Given the description of an element on the screen output the (x, y) to click on. 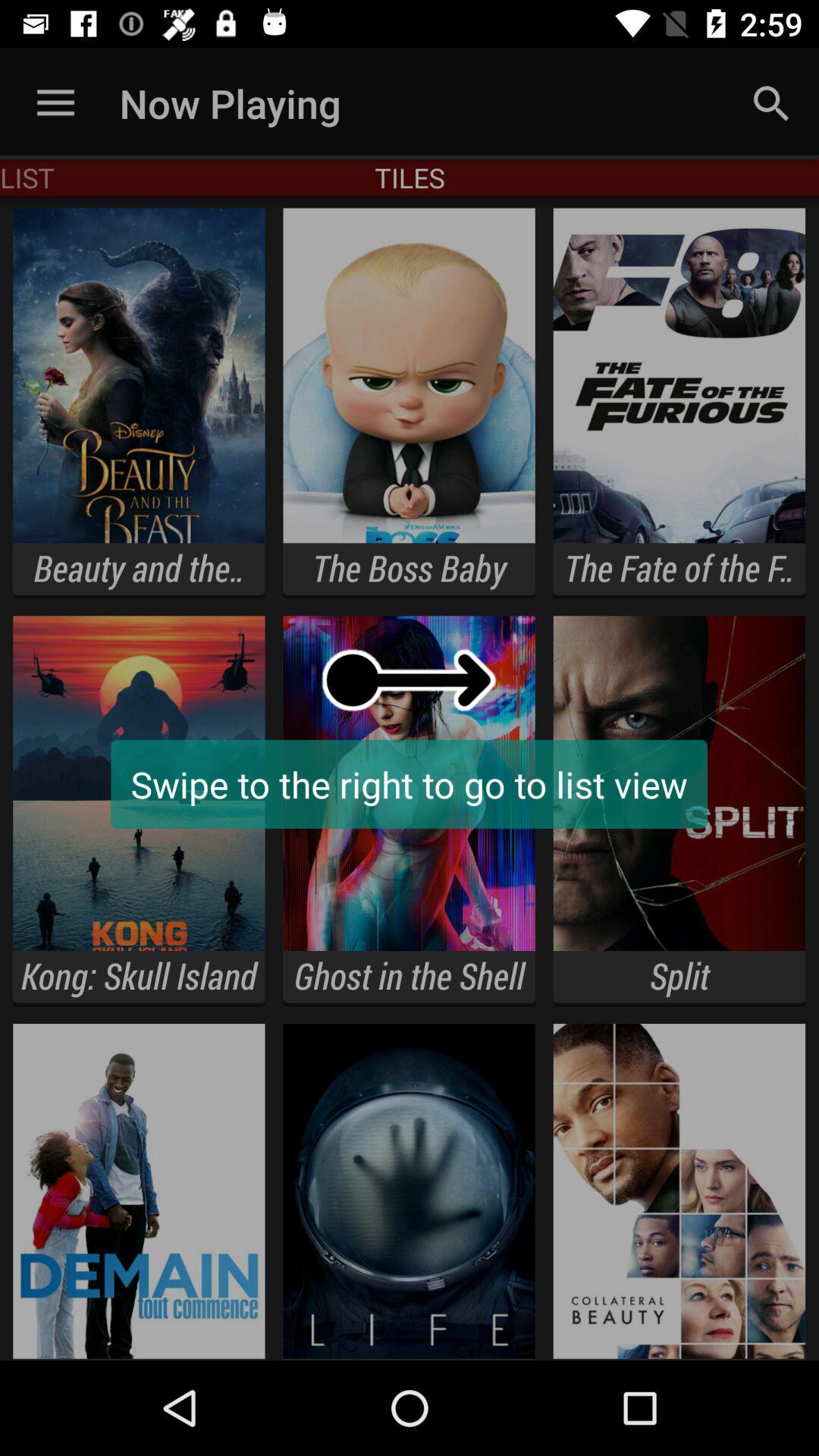
open the icon above list item (55, 103)
